Given the description of an element on the screen output the (x, y) to click on. 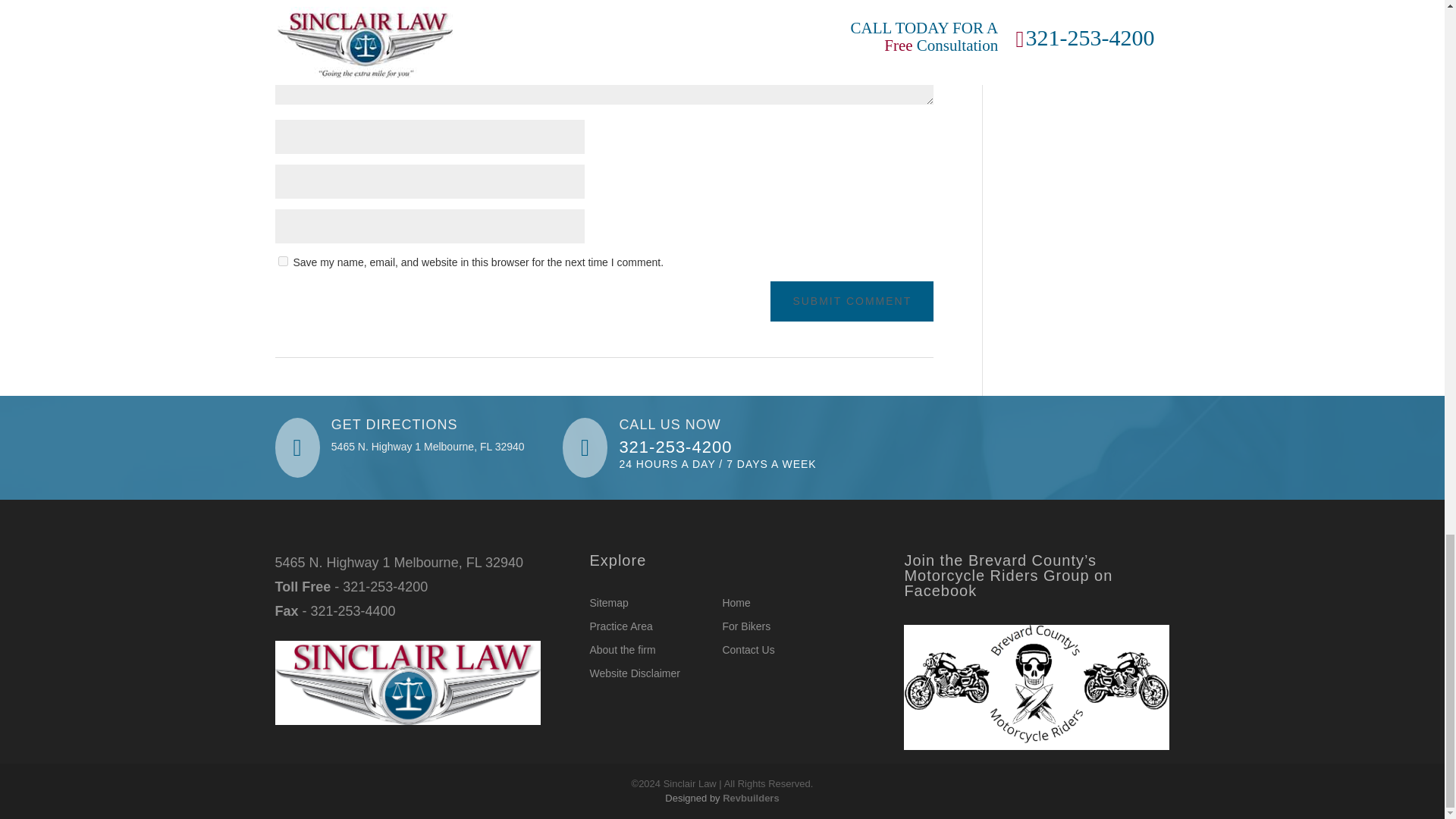
yes (282, 261)
Submit Comment (851, 301)
